Given the description of an element on the screen output the (x, y) to click on. 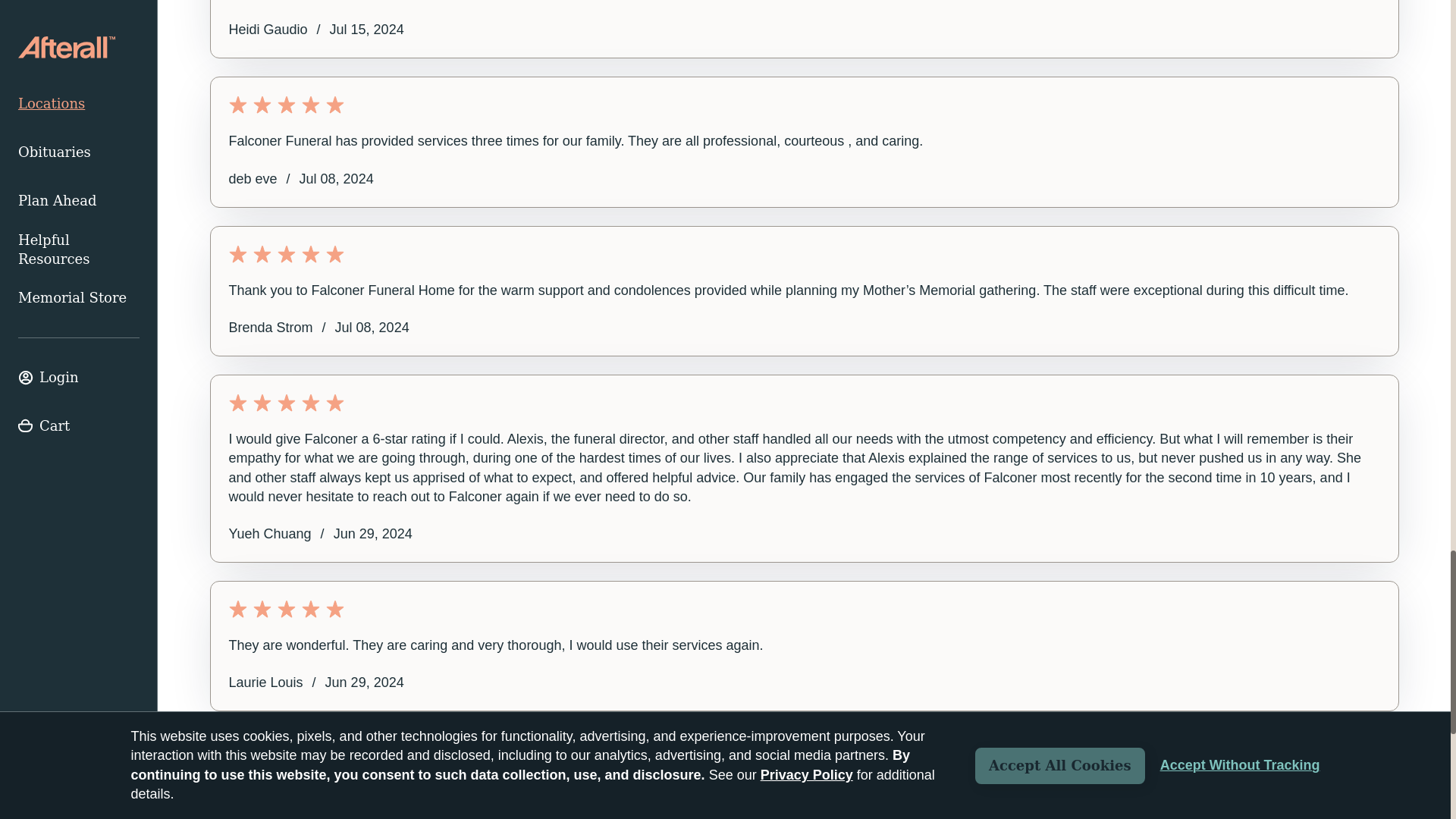
5 out of 5 Customer Rating (804, 402)
5 out of 5 Customer Rating (804, 608)
5 out of 5 Customer Rating (804, 253)
5 out of 5 Customer Rating (804, 104)
